Given the description of an element on the screen output the (x, y) to click on. 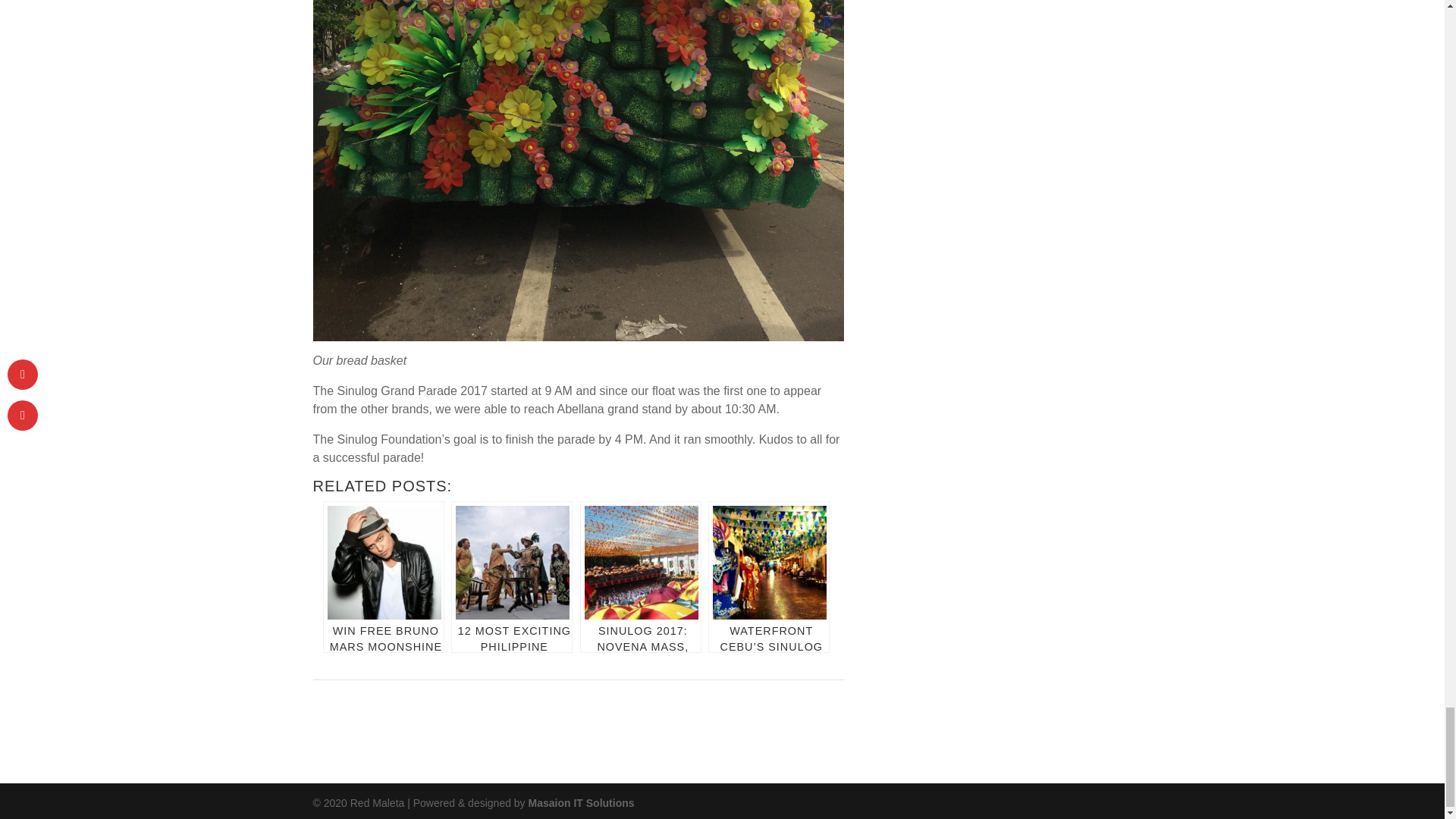
WIN FREE BRUNO MARS MOONSHINE JUNGLE TOUR CONCERT TICKETS (383, 576)
Sinulog 2017: Novena Mass, Procession and Grand Parade (640, 576)
Masaion IT Solutions (581, 802)
Win FREE Bruno Mars Moonshine Jungle Tour Concert Tickets (383, 576)
SINULOG 2017: NOVENA MASS, PROCESSION AND GRAND PARADE (640, 576)
